Given the description of an element on the screen output the (x, y) to click on. 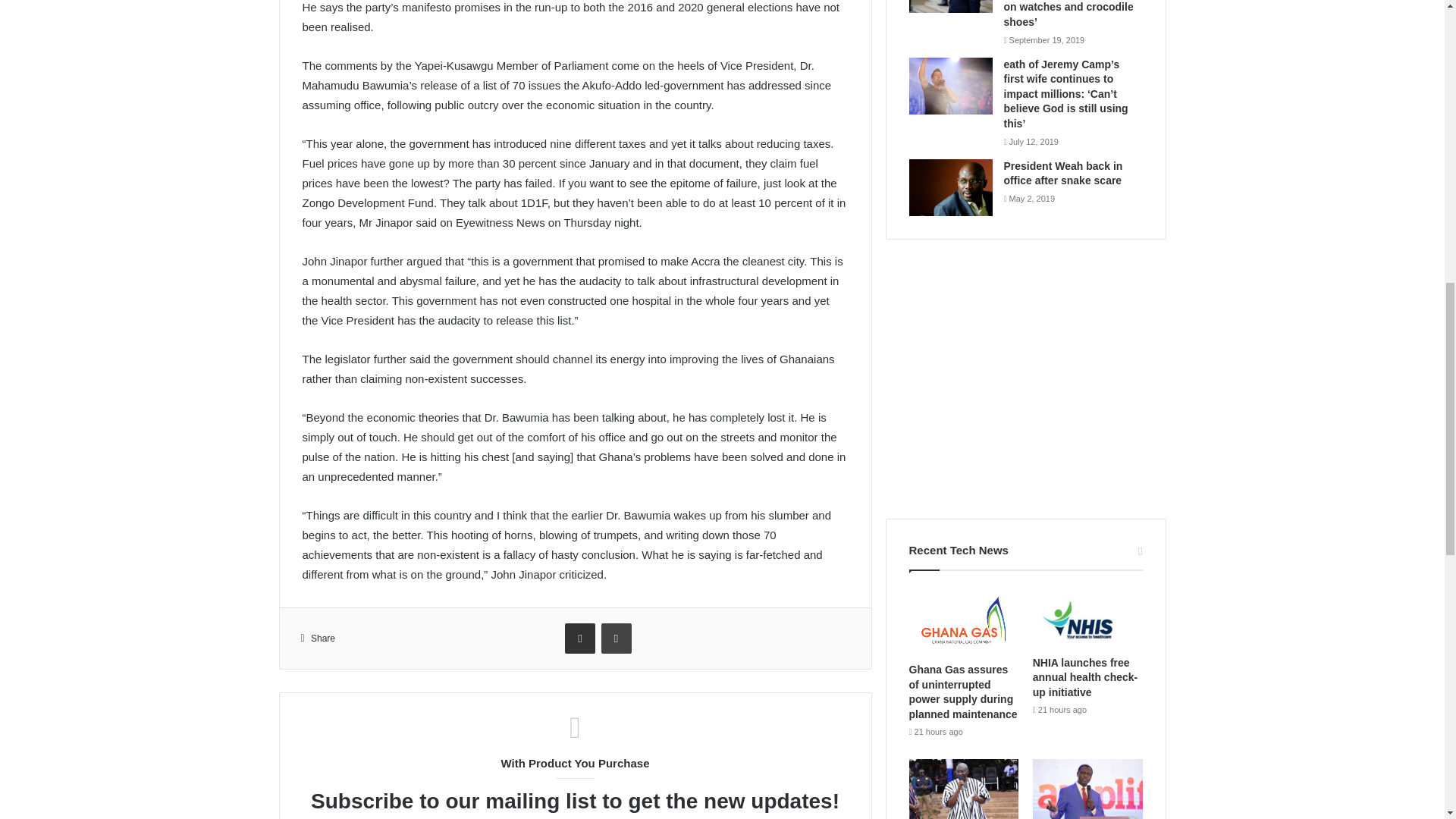
Print (616, 638)
Print (616, 638)
Share via Email (579, 638)
Share via Email (579, 638)
